Given the description of an element on the screen output the (x, y) to click on. 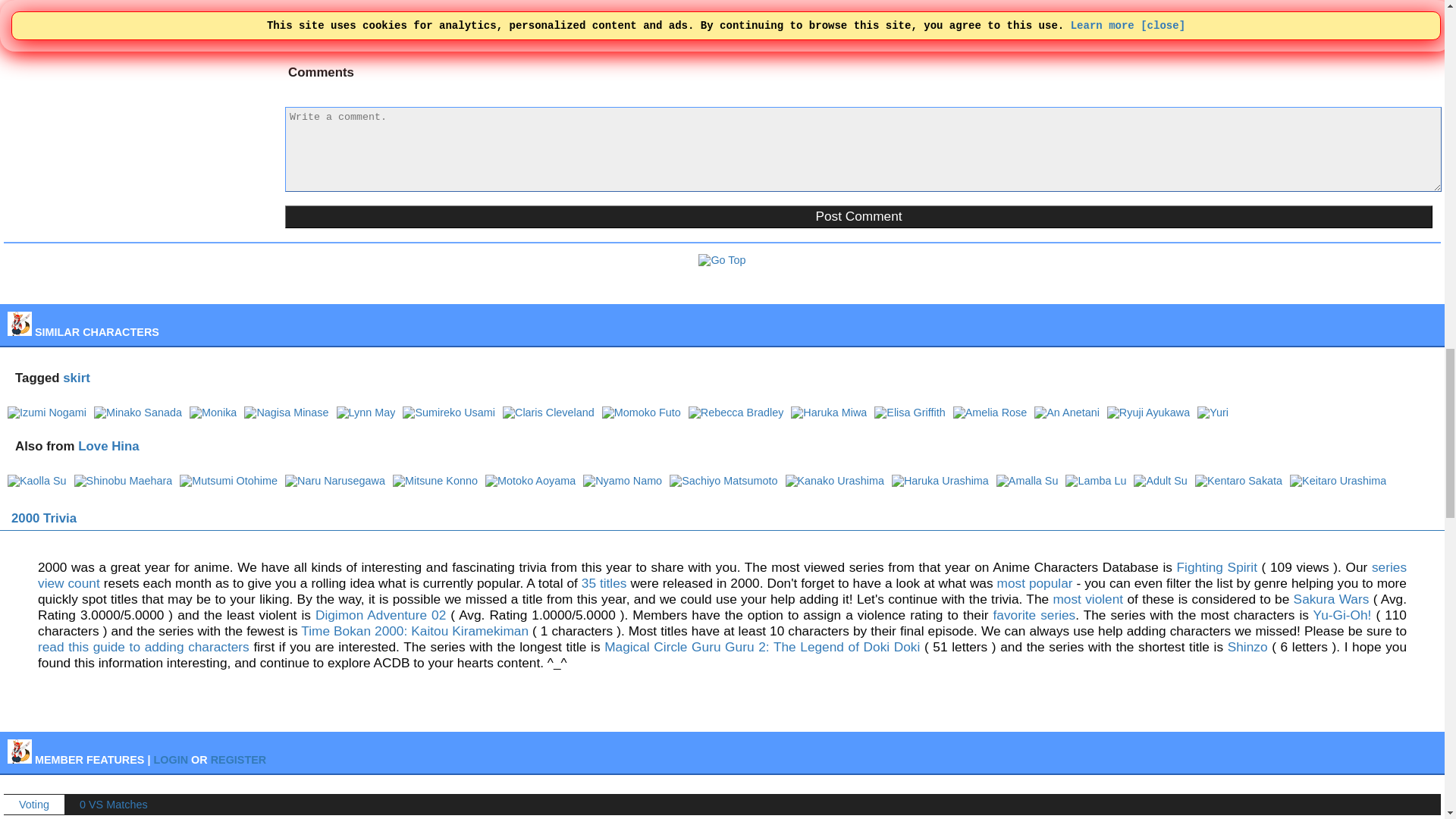
Monika (212, 412)
Minako Sanada (138, 412)
Sumireko Usami (449, 412)
Rebecca Bradley (736, 412)
Momoko Futo  (641, 412)
Go Top (721, 259)
Claris Cleveland (548, 412)
Lynn May (366, 412)
Post Comment (858, 216)
Izumi Nogami (46, 412)
Nagisa Minase (286, 412)
